Given the description of an element on the screen output the (x, y) to click on. 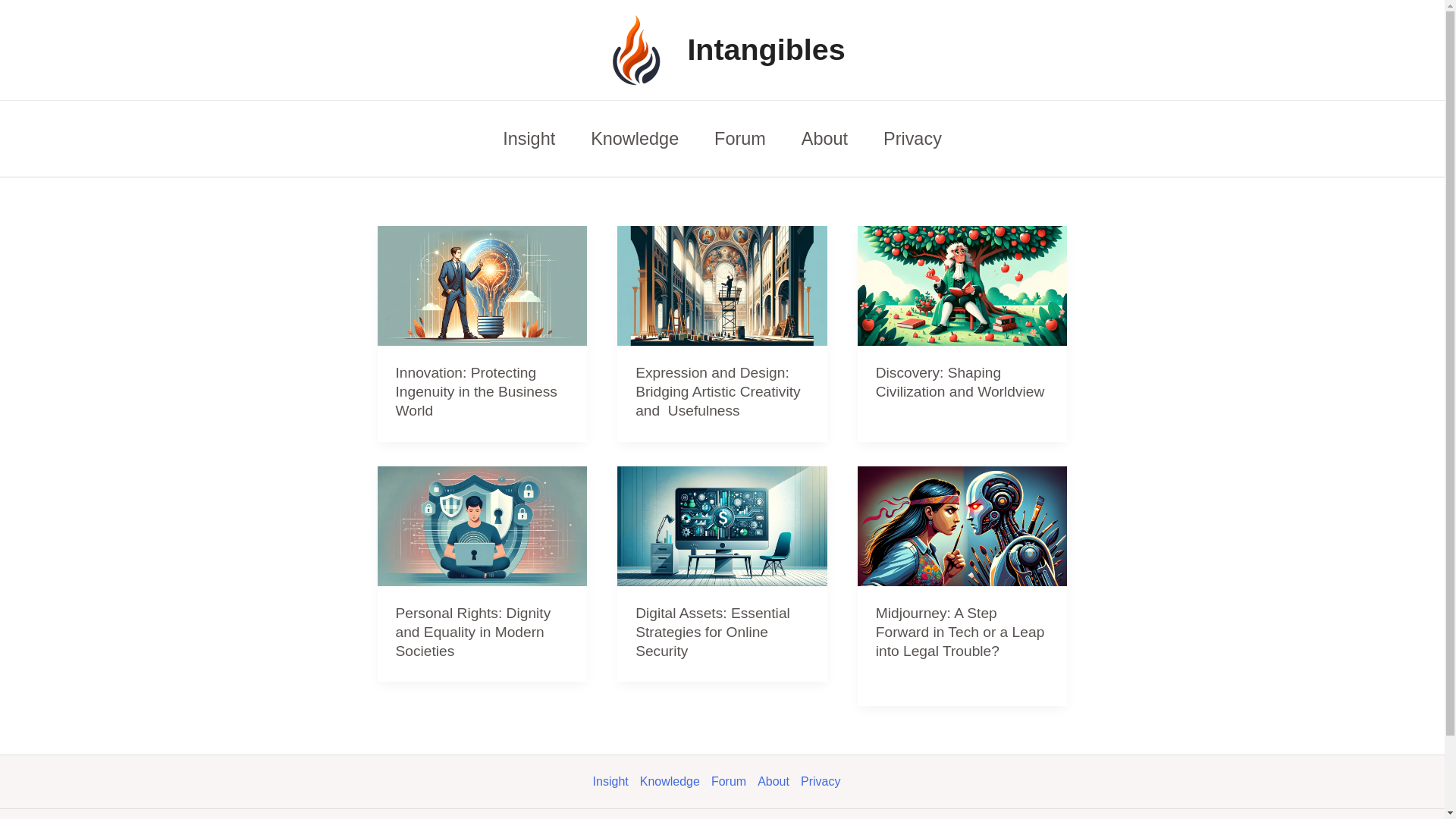
About (823, 138)
Knowledge (635, 138)
Knowledge (675, 781)
Privacy (912, 138)
Intangibles (765, 49)
Digital Assets: Essential Strategies for Online Security (712, 632)
Privacy (825, 781)
Innovation: Protecting Ingenuity in the Business World (476, 391)
Insight (528, 138)
